Given the description of an element on the screen output the (x, y) to click on. 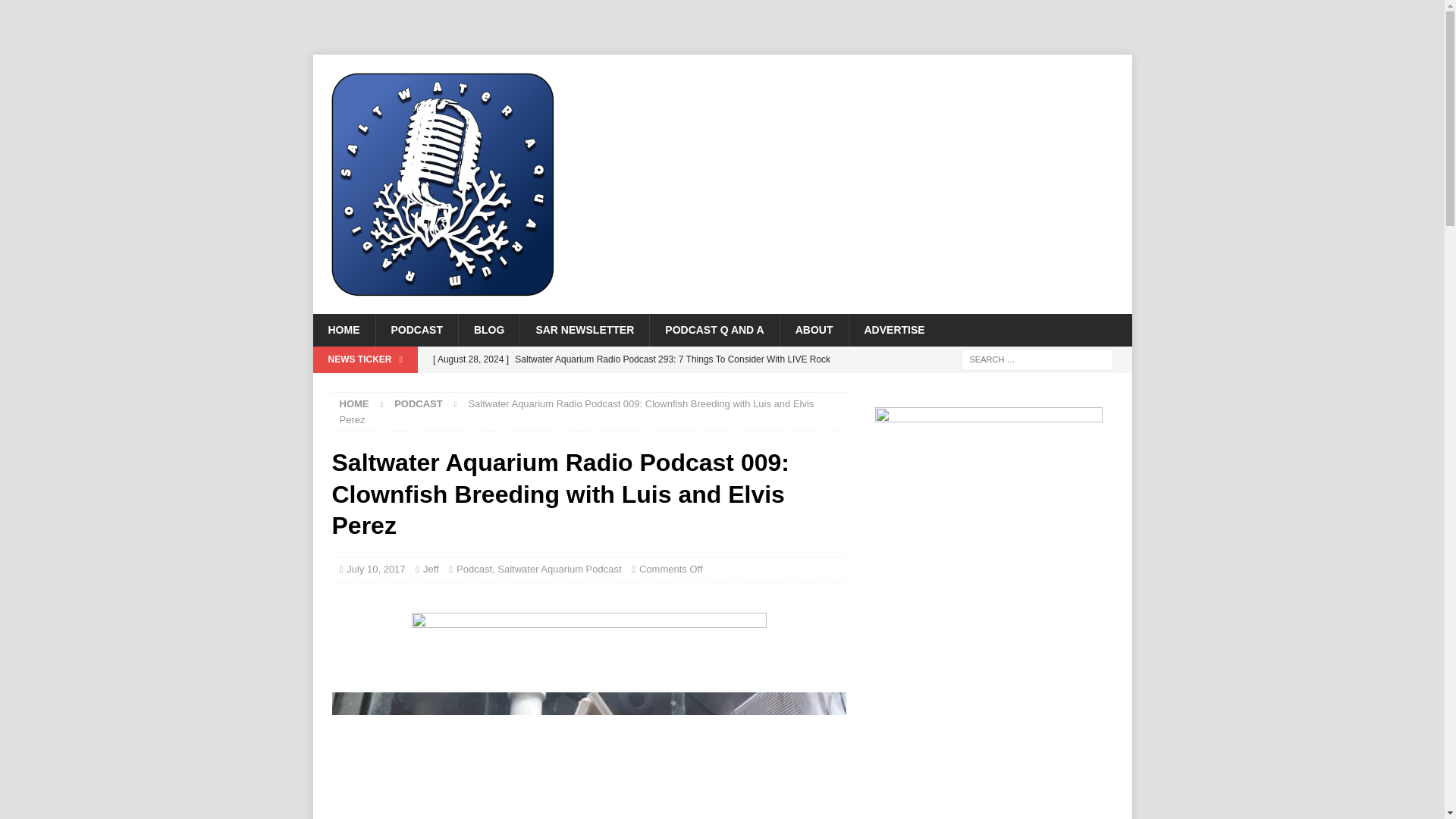
HOME (343, 329)
July 10, 2017 (375, 568)
ABOUT (813, 329)
Jeff (431, 568)
BLOG (488, 329)
Podcast (418, 403)
PODCAST Q AND A (713, 329)
ADVERTISE (893, 329)
PODCAST (415, 329)
